Given the description of an element on the screen output the (x, y) to click on. 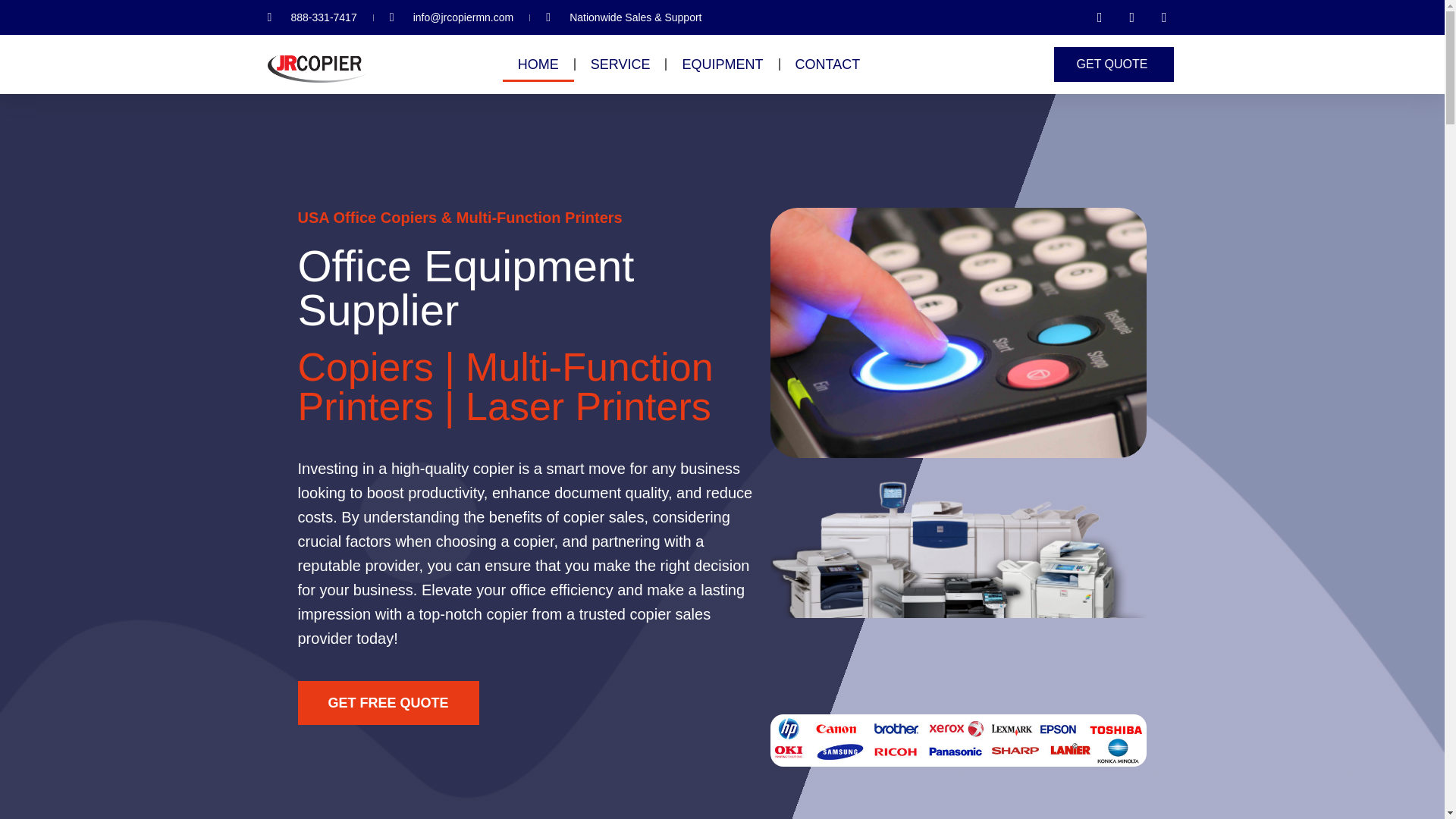
CONTACT (826, 63)
EQUIPMENT (721, 63)
GET QUOTE (1114, 63)
SERVICE (620, 63)
GET FREE QUOTE (388, 702)
HOME (537, 63)
